Given the description of an element on the screen output the (x, y) to click on. 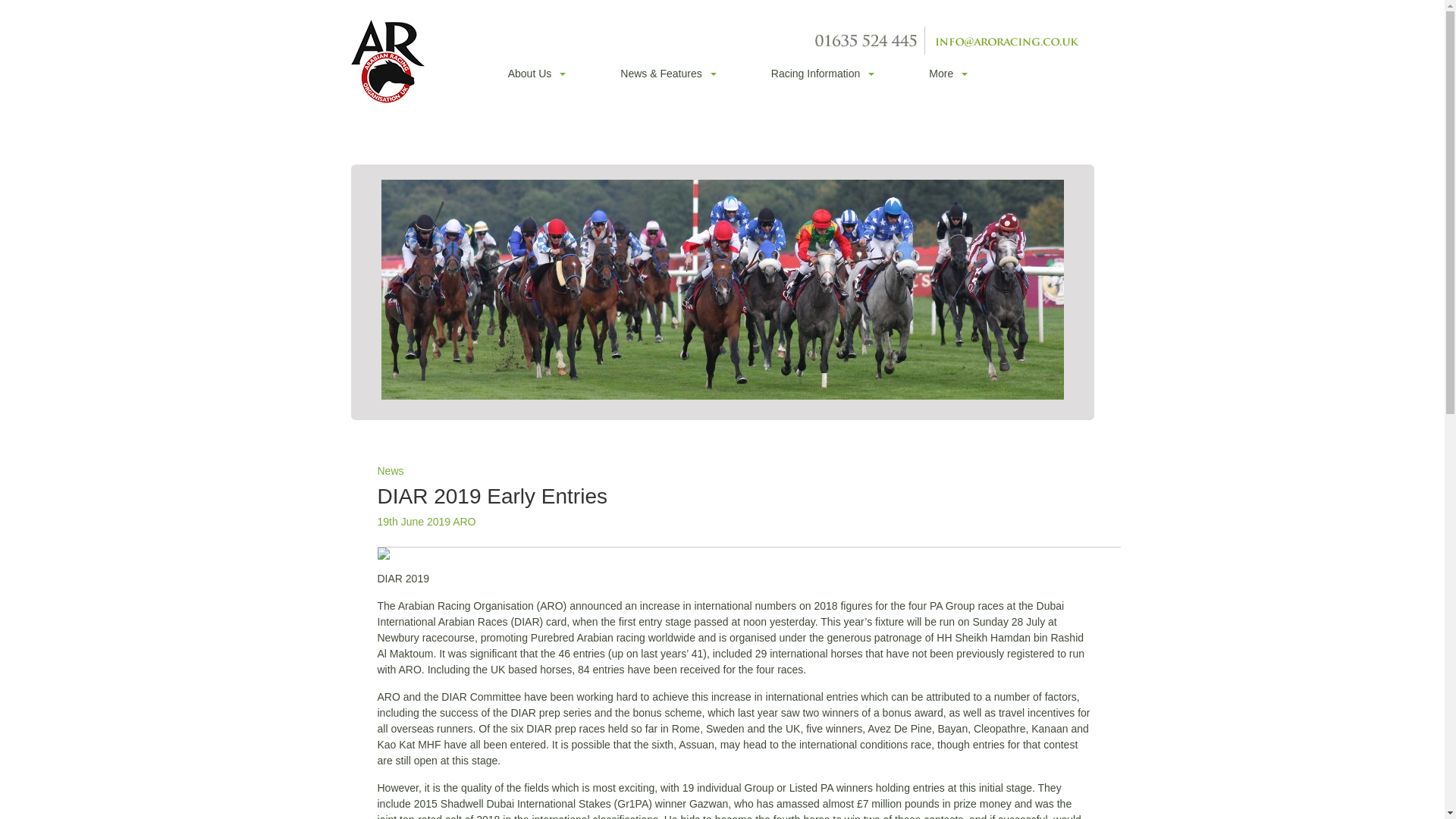
ARO (464, 521)
Racing Information (820, 73)
19th June 2019 (414, 521)
News (390, 470)
More (946, 73)
About Us (534, 73)
